Given the description of an element on the screen output the (x, y) to click on. 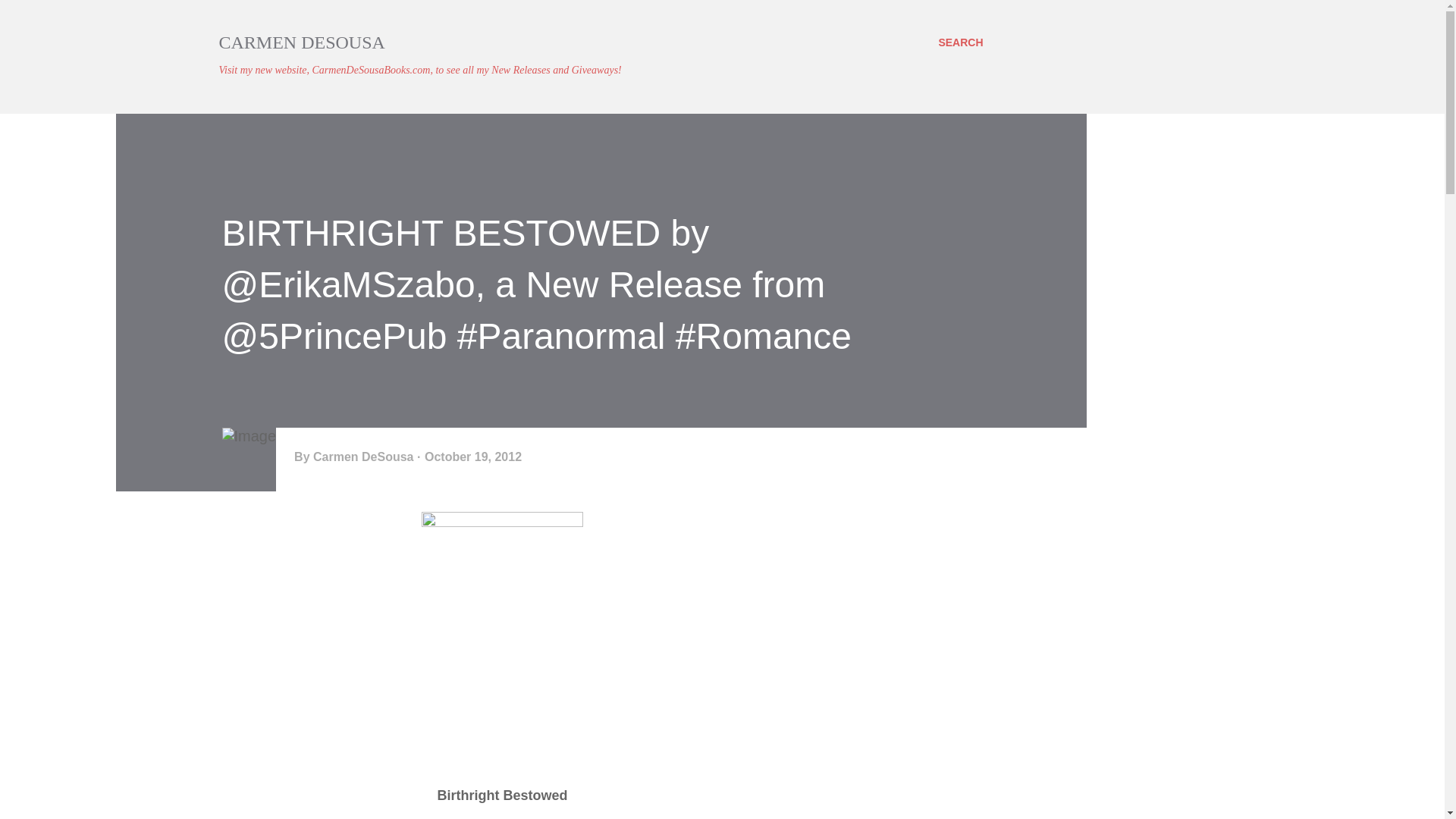
permanent link (473, 456)
Carmen DeSousa (364, 456)
October 19, 2012 (473, 456)
SEARCH (959, 42)
author profile (364, 456)
CARMEN DESOUSA (301, 42)
